Given the description of an element on the screen output the (x, y) to click on. 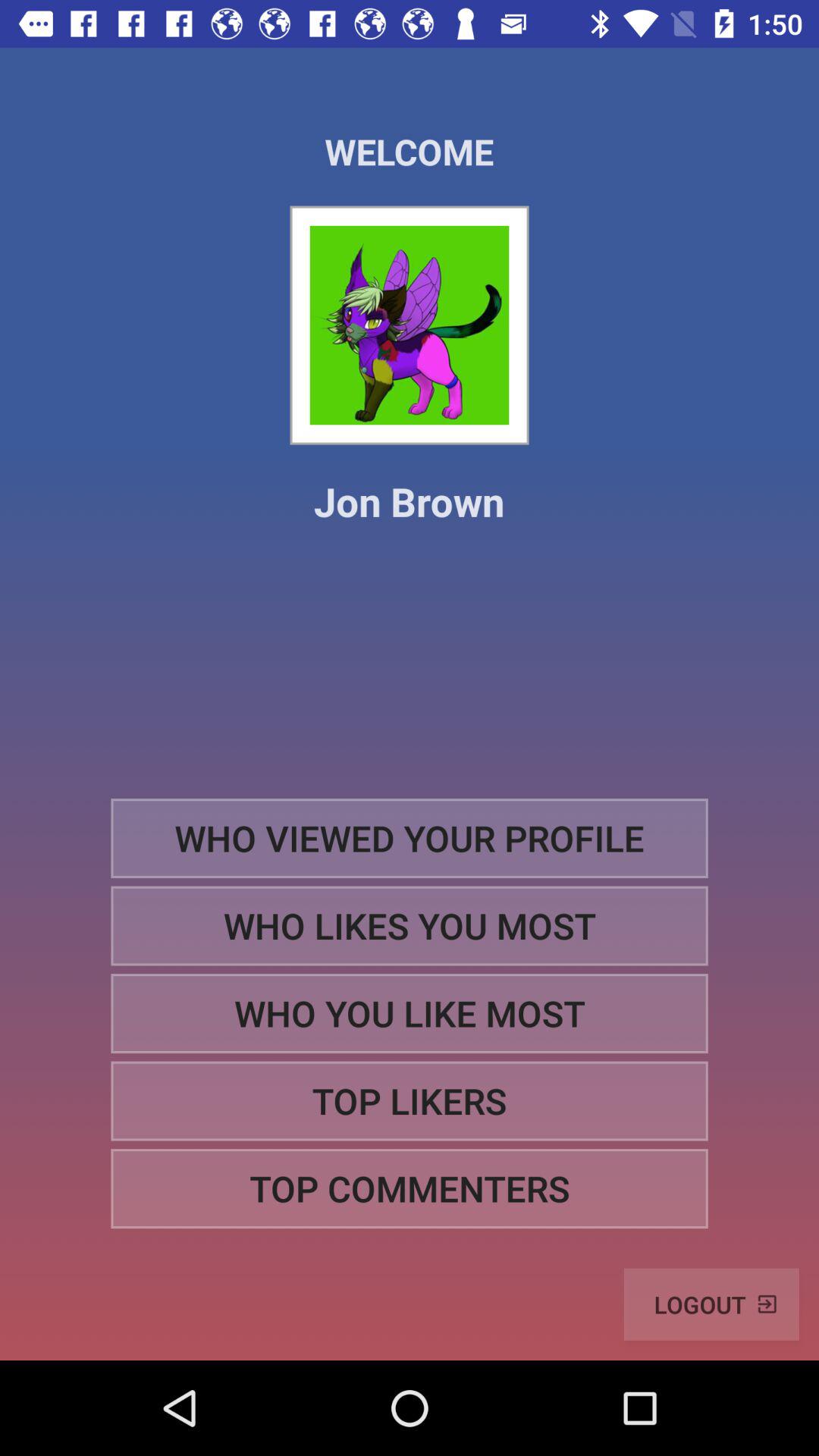
press logout item (711, 1304)
